Given the description of an element on the screen output the (x, y) to click on. 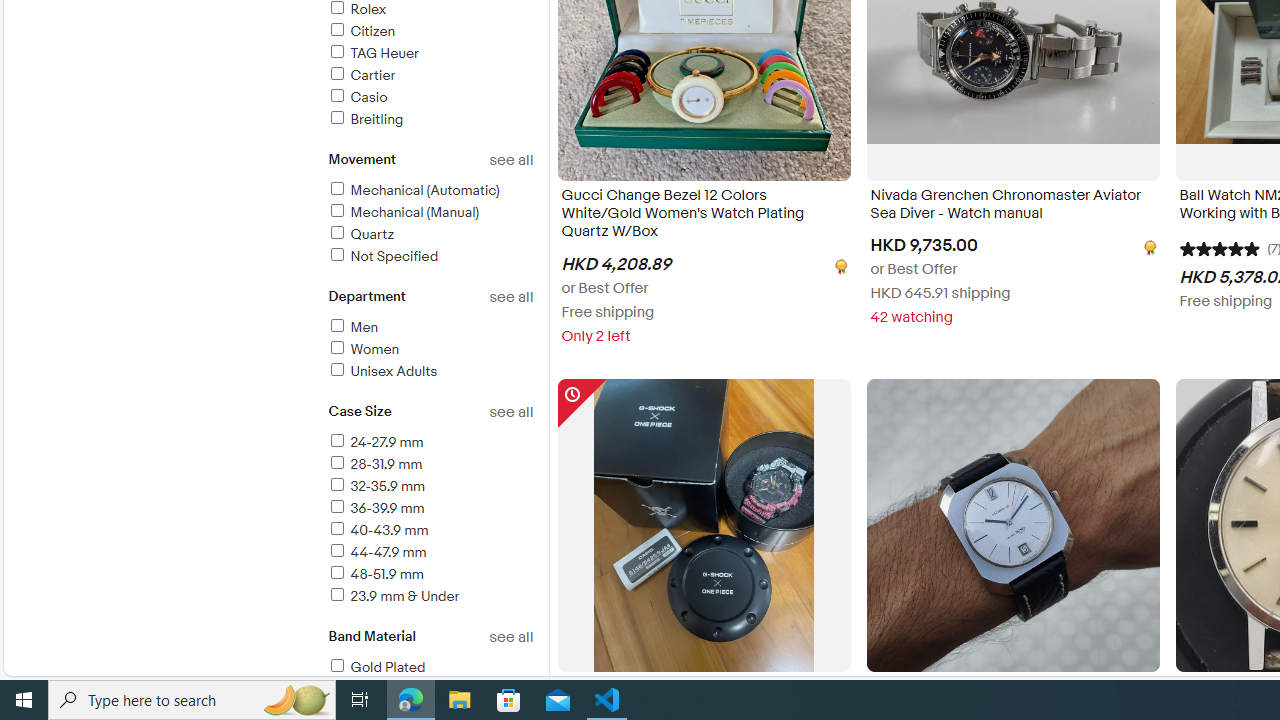
Casio (356, 97)
Men (352, 327)
See all department refinements (510, 297)
40-43.9 mm (430, 531)
28-31.9 mm (374, 464)
See all case size refinements (510, 412)
Not Specified (430, 257)
36-39.9 mm (375, 507)
Breitling (365, 119)
5 out of 5 stars (1218, 247)
Mechanical (Automatic) (413, 190)
44-47.9 mm (430, 553)
Citizen (430, 32)
Rolex (430, 10)
